Given the description of an element on the screen output the (x, y) to click on. 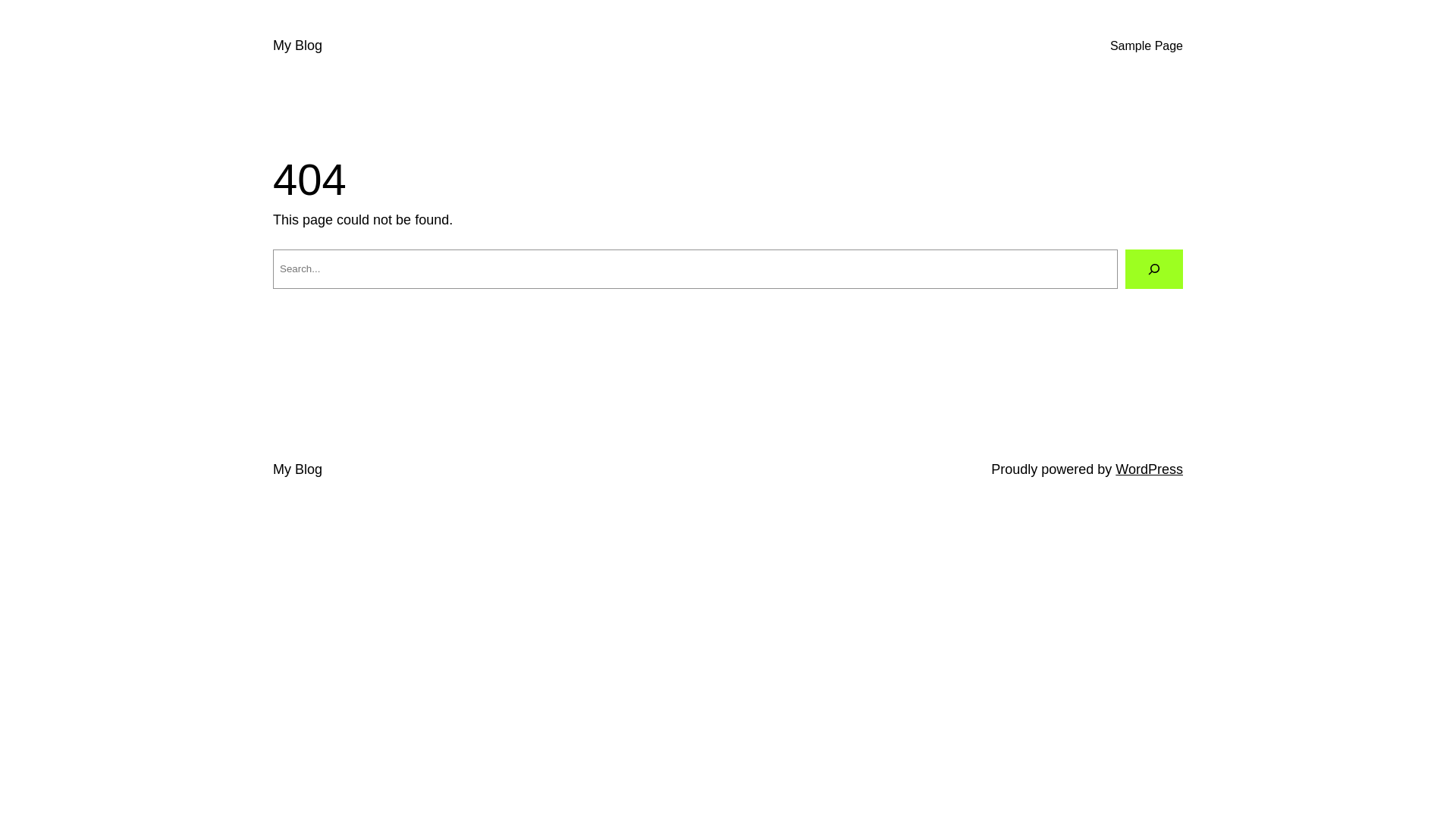
Sample Page Element type: text (1146, 46)
My Blog Element type: text (297, 468)
My Blog Element type: text (297, 45)
WordPress Element type: text (1149, 468)
